Given the description of an element on the screen output the (x, y) to click on. 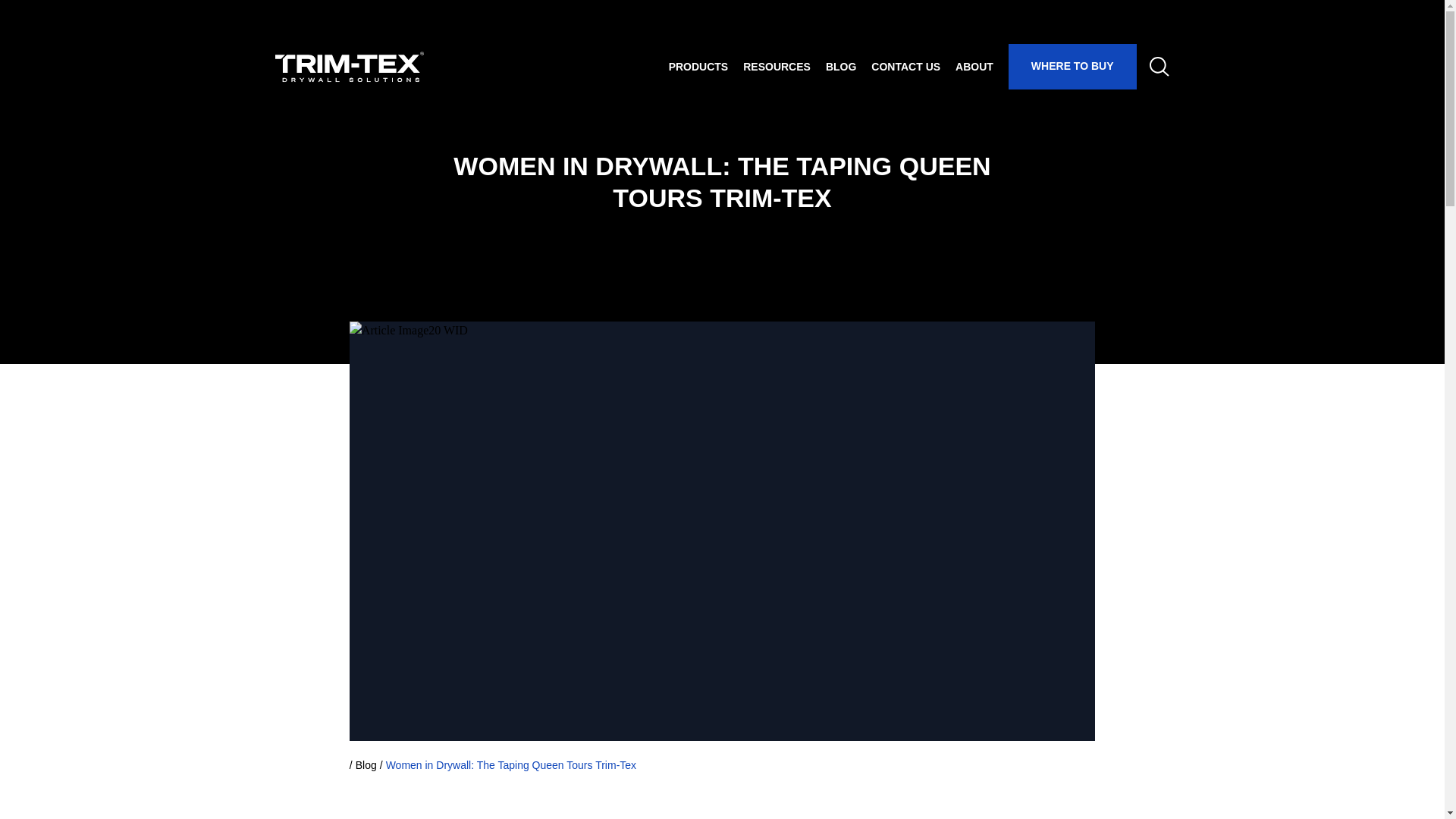
WHERE TO BUY (1073, 66)
Blog (366, 766)
RESOURCES (776, 66)
ABOUT (973, 66)
PRODUCTS (698, 66)
CONTACT US (905, 66)
Women in Drywall: The Taping Queen Tours Trim-Tex (510, 766)
